Given the description of an element on the screen output the (x, y) to click on. 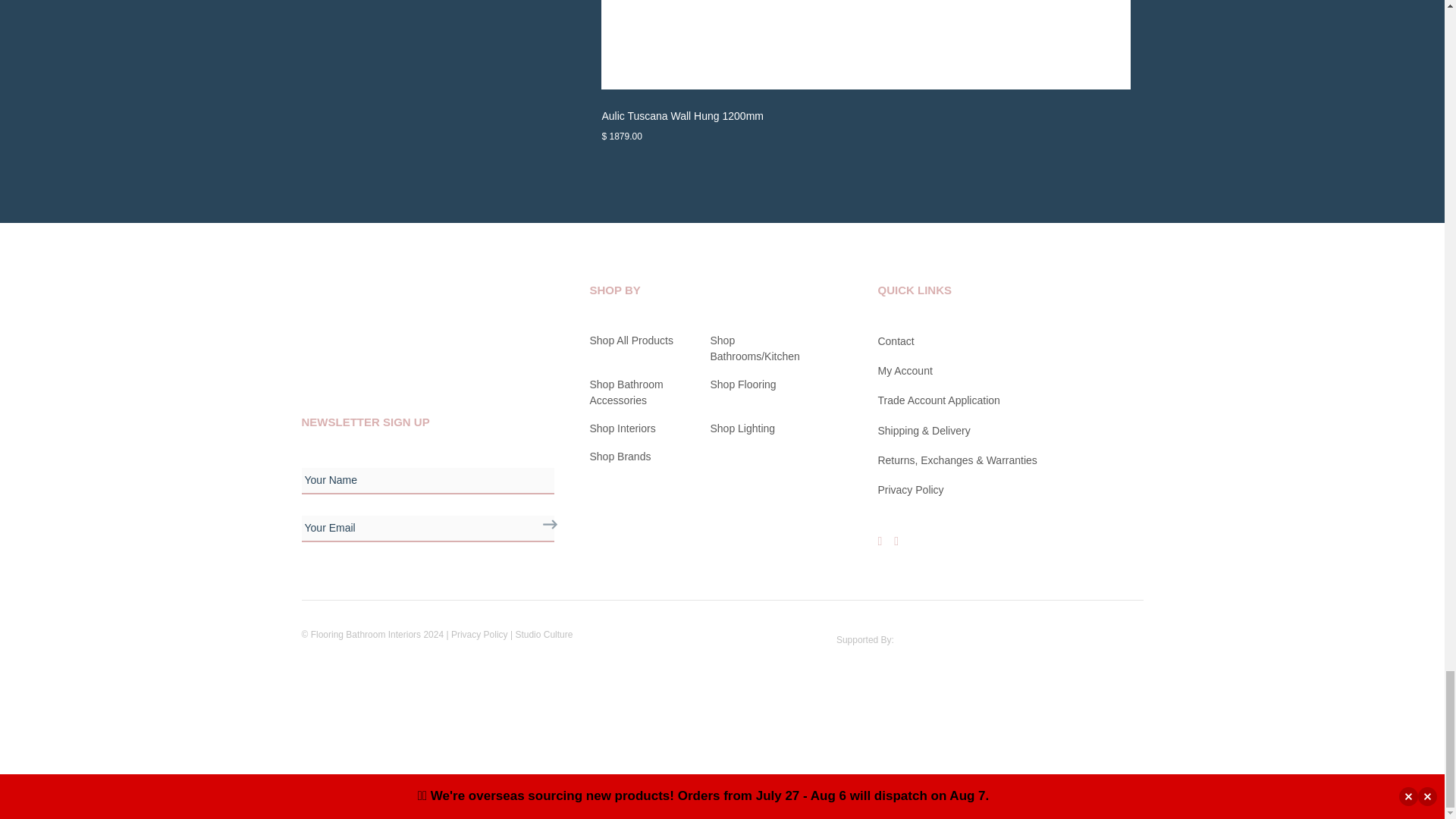
Flooring Bathrooms Interiors (415, 325)
